Given the description of an element on the screen output the (x, y) to click on. 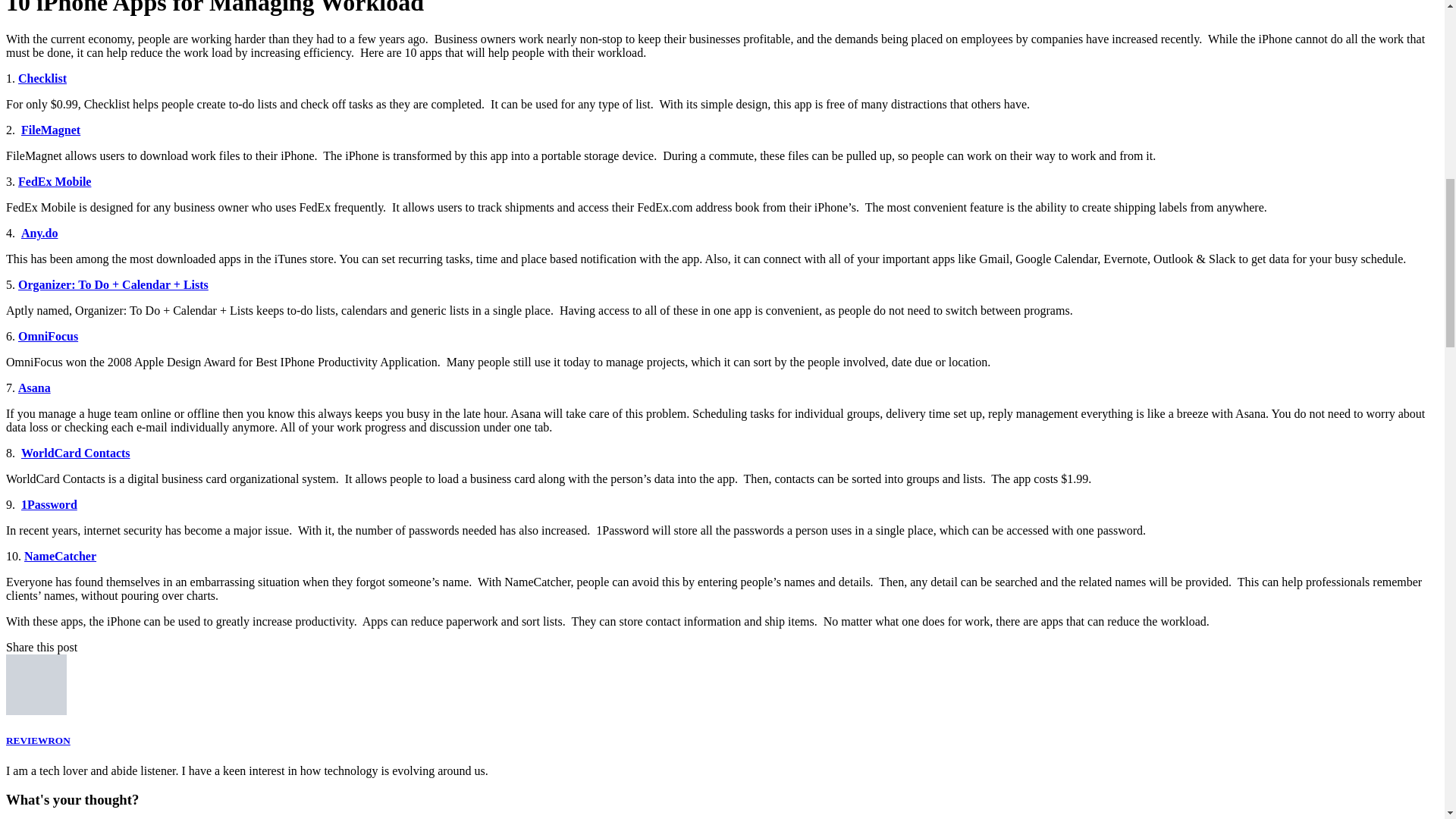
Gravatar for REVIEWRON (35, 684)
